Given the description of an element on the screen output the (x, y) to click on. 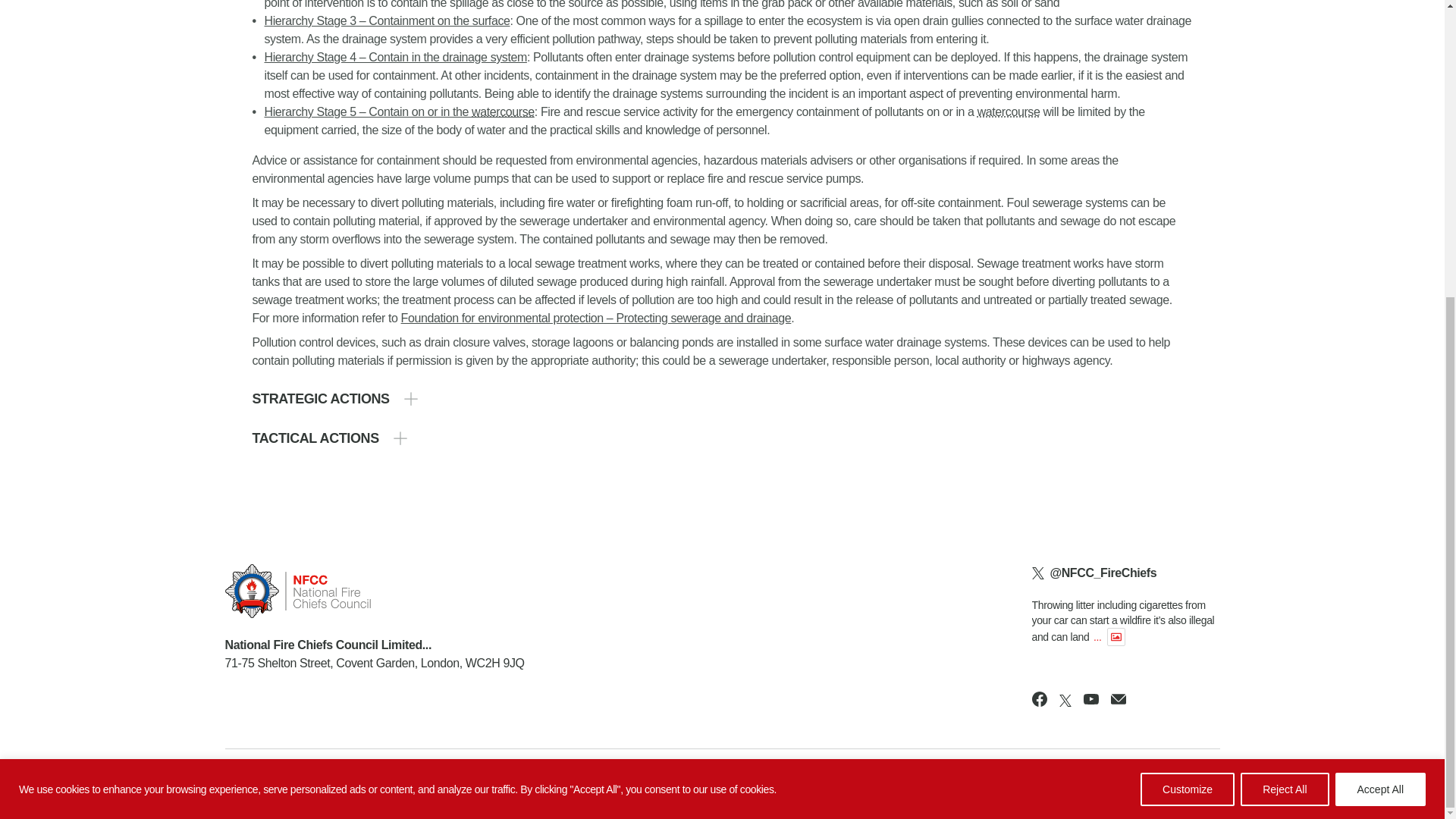
Accept All (1380, 329)
Clicking NFCC logo sends you to the home page (374, 591)
Customize (1187, 329)
Reject All (1283, 329)
NFCC Youtube (1091, 698)
NFCC Email (1117, 698)
NFCC Twitter (1065, 700)
NFCC Facebook (1038, 698)
Environment Agency and DCLG environmental handbook (596, 318)
